Given the description of an element on the screen output the (x, y) to click on. 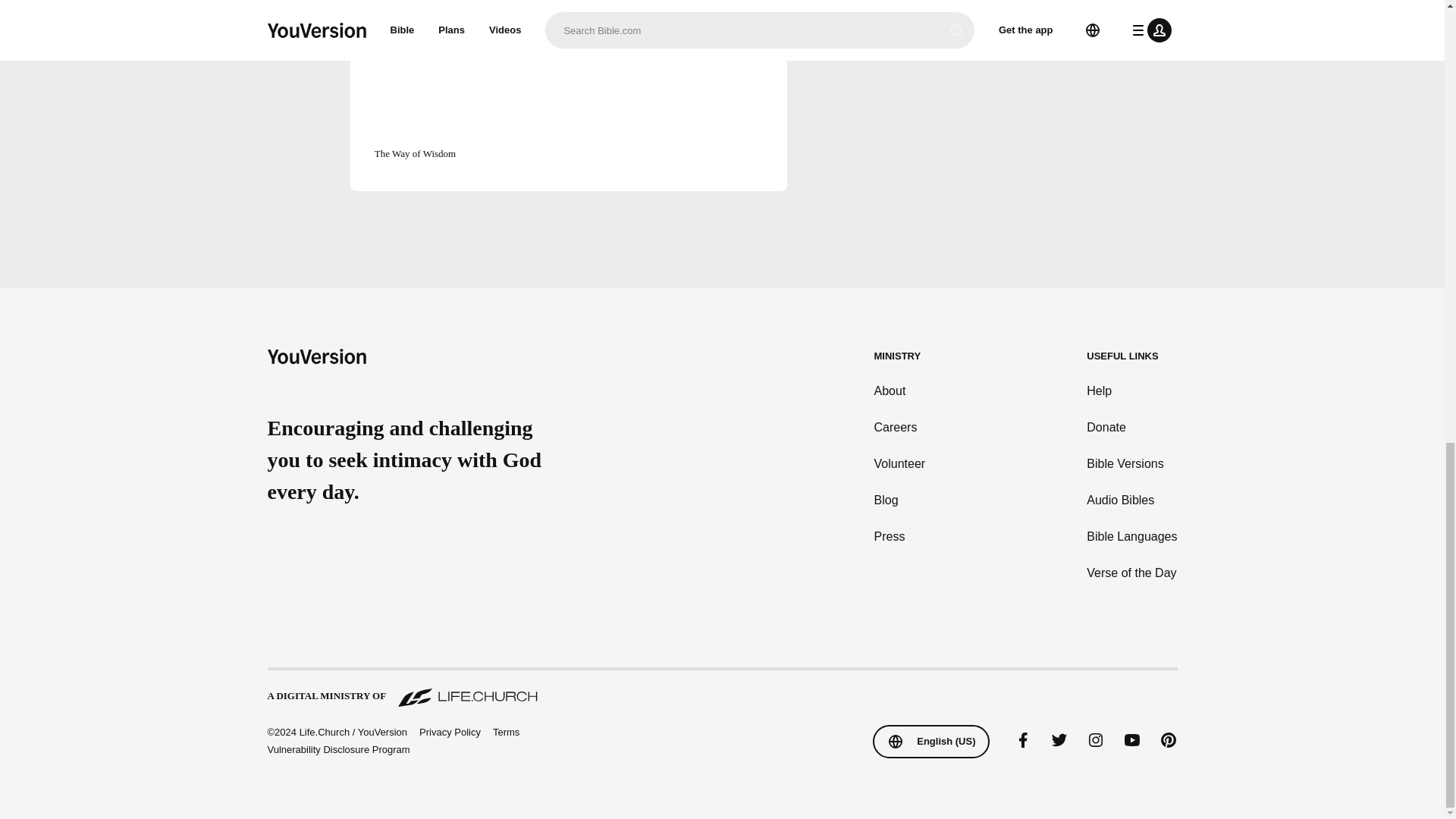
Blog (900, 500)
About (900, 391)
Volunteer (900, 464)
Audio Bibles (1131, 500)
A DIGITAL MINISTRY OF (721, 688)
Privacy Policy (449, 732)
Careers (900, 427)
Seeking Real Wisdom (668, 7)
Empowered Faith: Navigating Life's Challenges (468, 7)
Bible Languages (1131, 536)
